Given the description of an element on the screen output the (x, y) to click on. 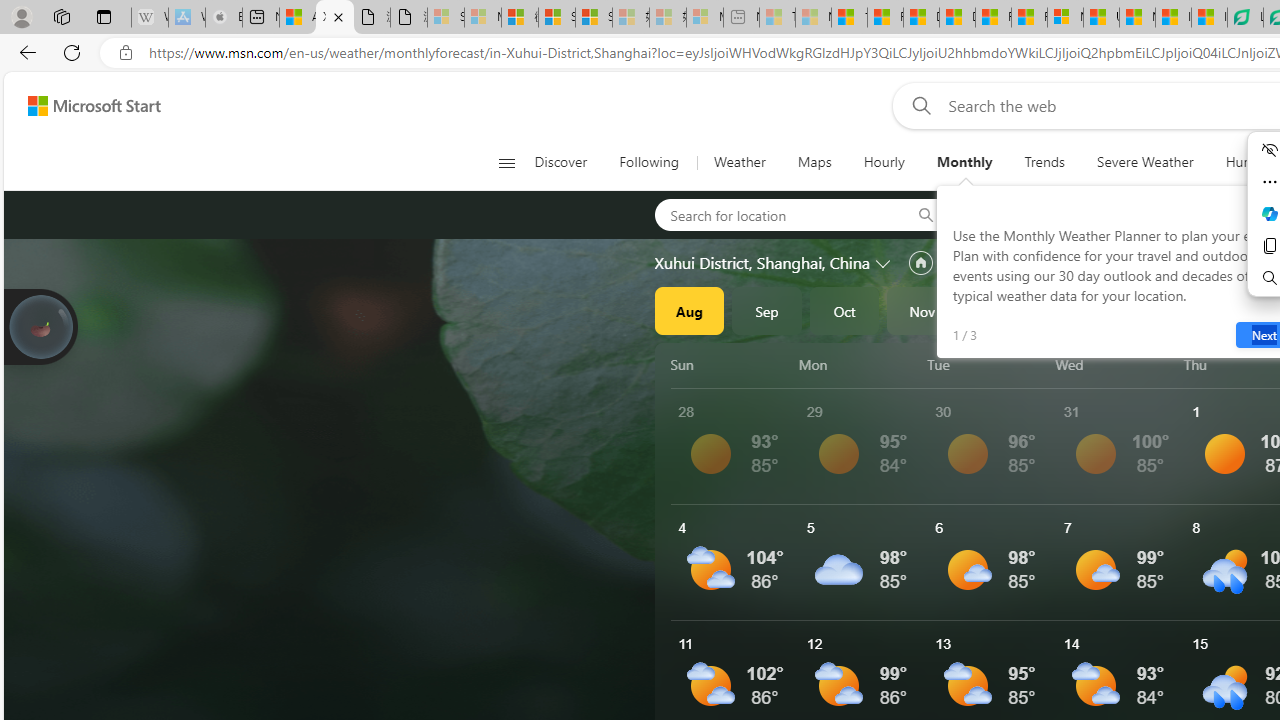
Maps (814, 162)
New tab - Sleeping (741, 17)
Search for location (776, 214)
